Given the description of an element on the screen output the (x, y) to click on. 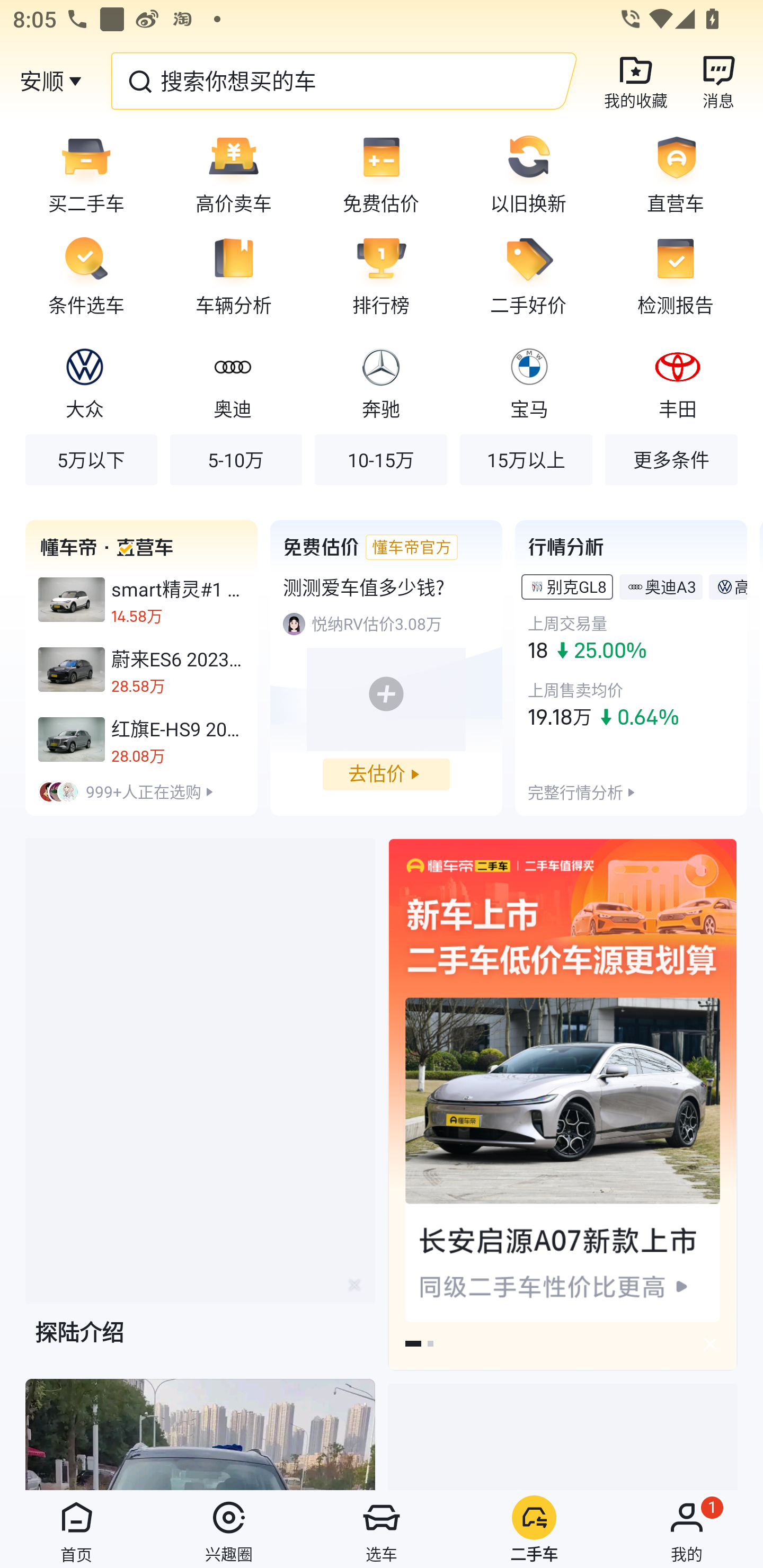
我的收藏 (635, 80)
安顺 (41, 80)
买二手车 (80, 172)
高价卖车 (233, 172)
免费估价 (380, 172)
以旧换新 (528, 172)
直营车 (682, 172)
条件选车 (80, 274)
车辆分析 (233, 274)
排行榜 (380, 274)
二手好价 (528, 274)
检测报告 (682, 274)
大众 (84, 381)
奥迪 (232, 381)
奔驰 (380, 381)
宝马 (529, 381)
丰田 (677, 381)
5万以下 (91, 459)
5-10万 (236, 459)
10-15万 (380, 459)
15万以上 (526, 459)
更多条件 (671, 459)
测测爱车值多少钱? 悦纳RV估价3.08万 去估价  (386, 667)
smart精灵#1 2023款 Pro 14.58万 (141, 599)
别克GL8 (576, 585)
奥迪A3 (669, 585)
蔚来ES6 2023款 75kWh 28.58万 (141, 669)
红旗E-HS9 2020款 460km 旗享版 六座 28.08万 (141, 739)
999+人正在选购 (141, 791)
完整行情分析 (575, 791)
探陆介绍 (200, 1107)
 首页 (76, 1528)
 兴趣圈 (228, 1528)
 选车 (381, 1528)
二手车 (533, 1528)
 我的 (686, 1528)
